Given the description of an element on the screen output the (x, y) to click on. 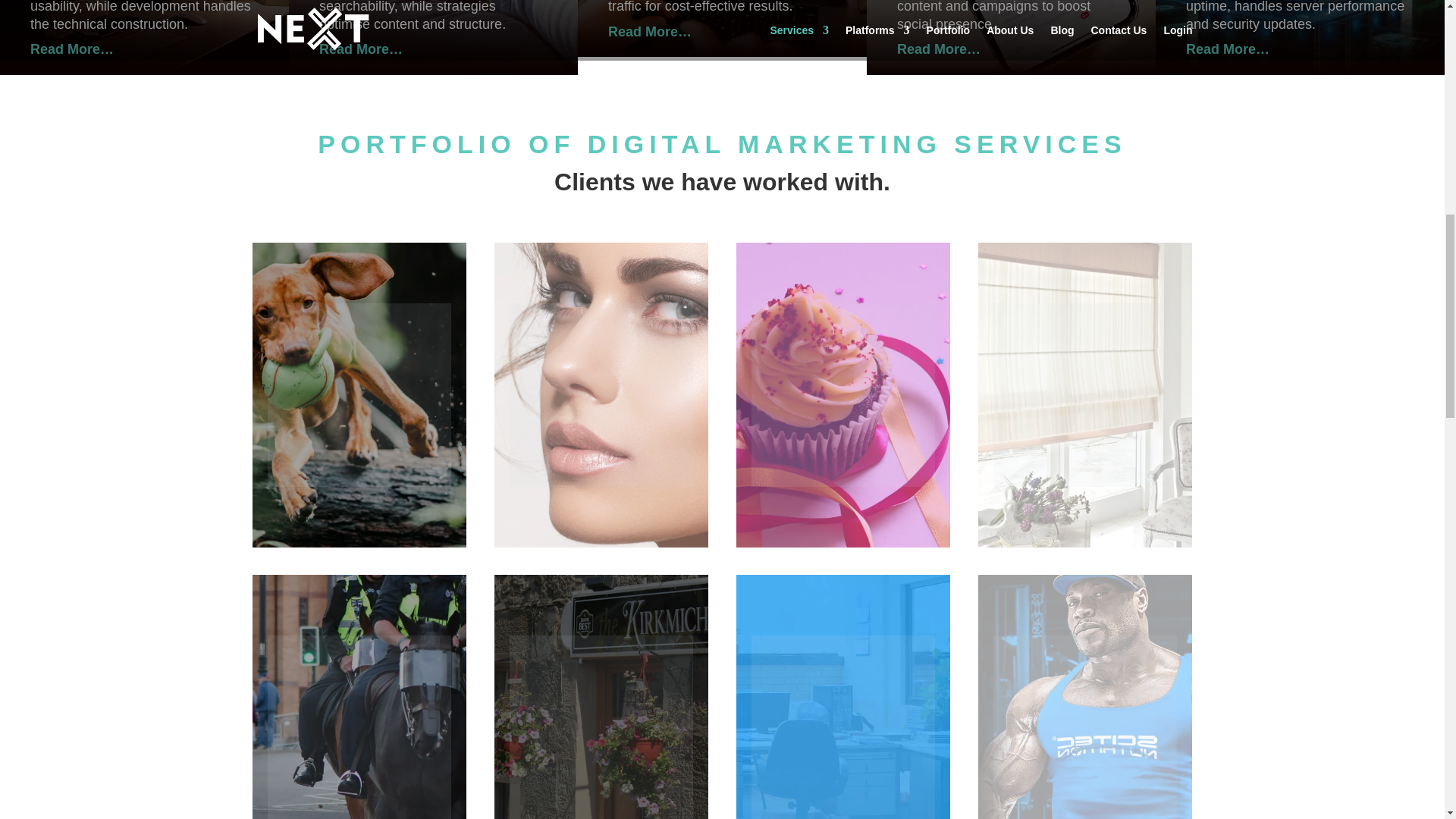
broken-blinds-logo (1084, 394)
educator-collars-logo (357, 394)
sweet-success-logo (842, 394)
PEW-logo (357, 727)
salvins-support-logo (842, 727)
kirkmichael-logo (601, 727)
sheffield-supplements-logo (1084, 727)
afshin-yousefpour-logo (601, 394)
